Given the description of an element on the screen output the (x, y) to click on. 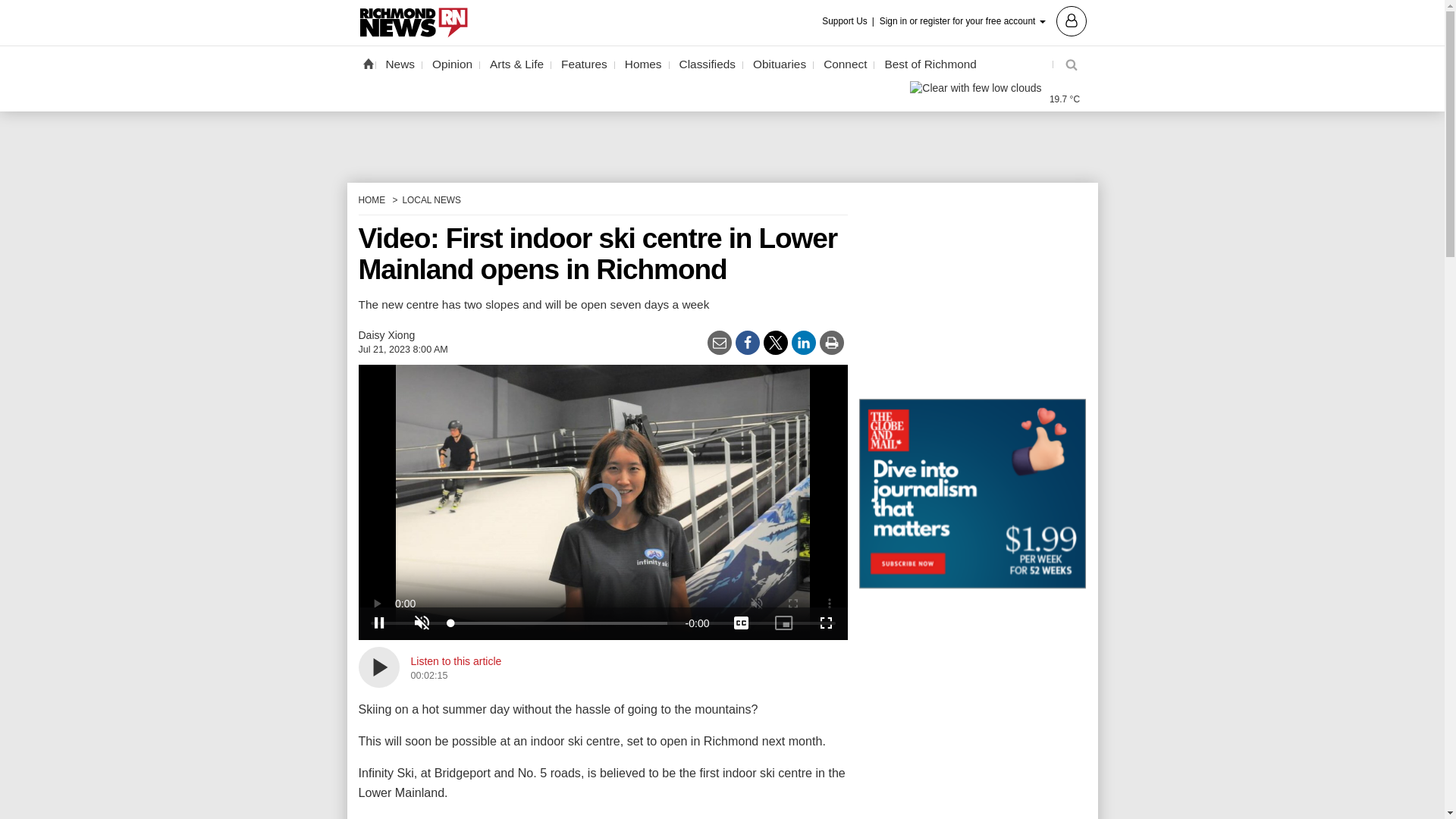
Picture-in-Picture (783, 623)
Captions (741, 623)
Opinion (452, 64)
Pause (379, 623)
Support Us (849, 21)
Sign in or register for your free account (982, 20)
News (400, 64)
Unmute (421, 623)
Fullscreen (826, 623)
Home (367, 63)
